Given the description of an element on the screen output the (x, y) to click on. 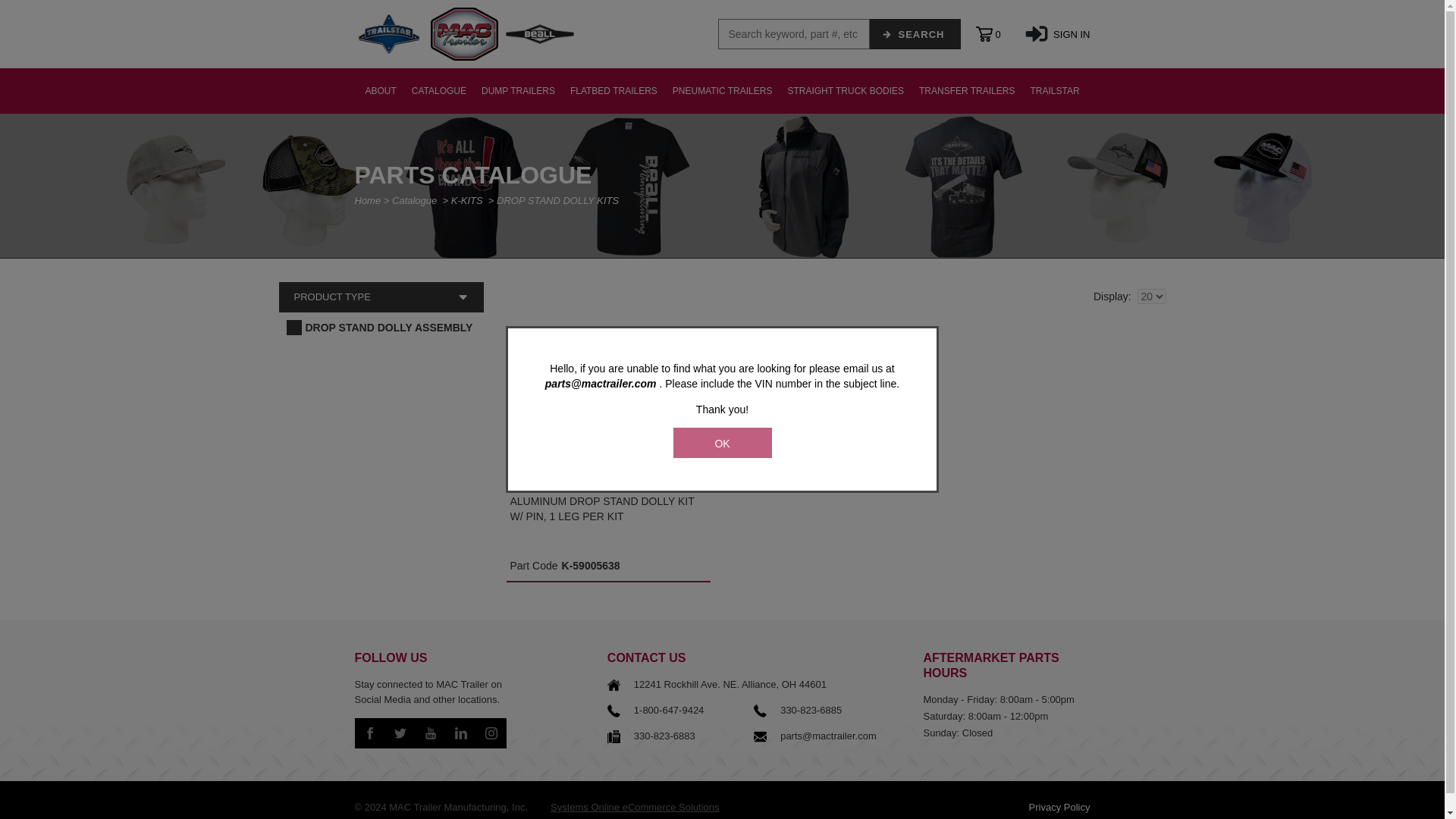
TRAILSTAR (1054, 90)
PRODUCT TYPE (381, 296)
SEARCH (914, 33)
 SIGN IN (1057, 33)
Systems Online eCommerce Solutions (634, 807)
FLATBED TRAILERS (613, 90)
Catalogue (413, 200)
PNEUMATIC TRAILERS (722, 90)
Shopping Cart (996, 33)
CATALOGUE (439, 90)
